Given the description of an element on the screen output the (x, y) to click on. 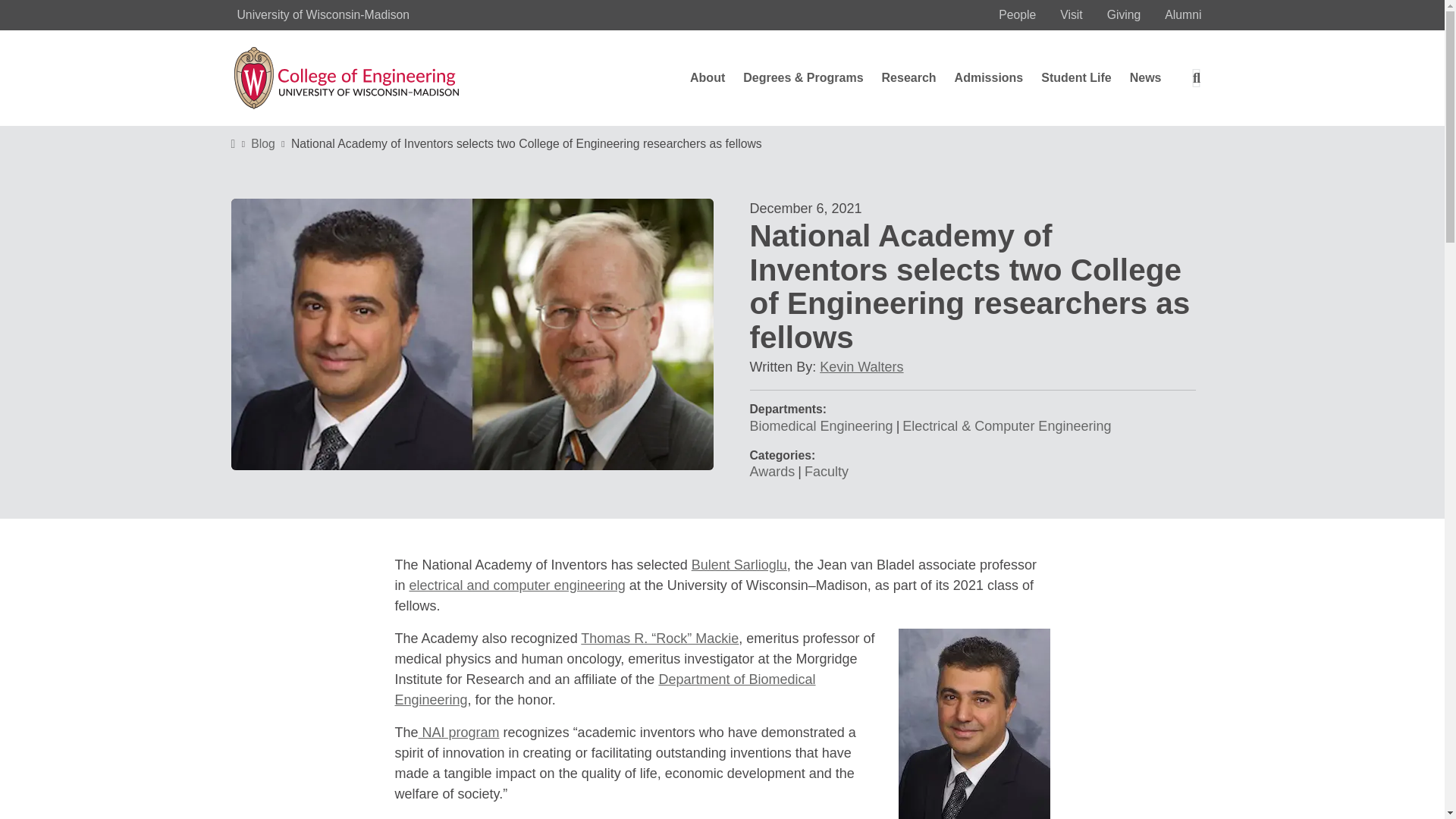
Student Life (1075, 78)
Alumni (1182, 15)
People (1017, 15)
Faculty (826, 471)
Admissions (988, 78)
Engineering Research (908, 78)
Visit (1071, 15)
University of Wisconsin-Madison (322, 14)
Awards (771, 471)
Email Kevin Walters (860, 366)
